Given the description of an element on the screen output the (x, y) to click on. 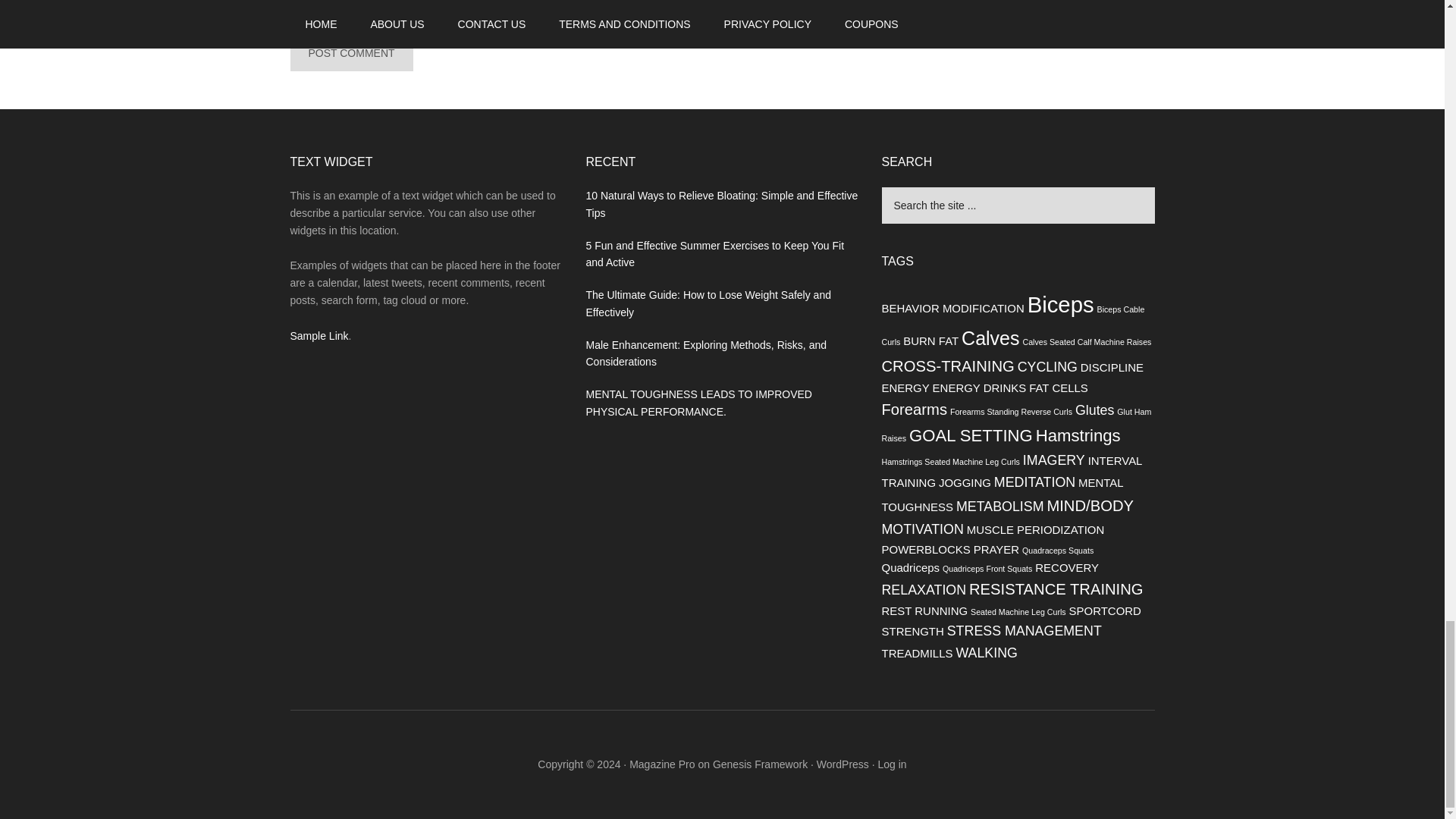
Post Comment (350, 53)
Post Comment (350, 53)
yes (294, 5)
